Given the description of an element on the screen output the (x, y) to click on. 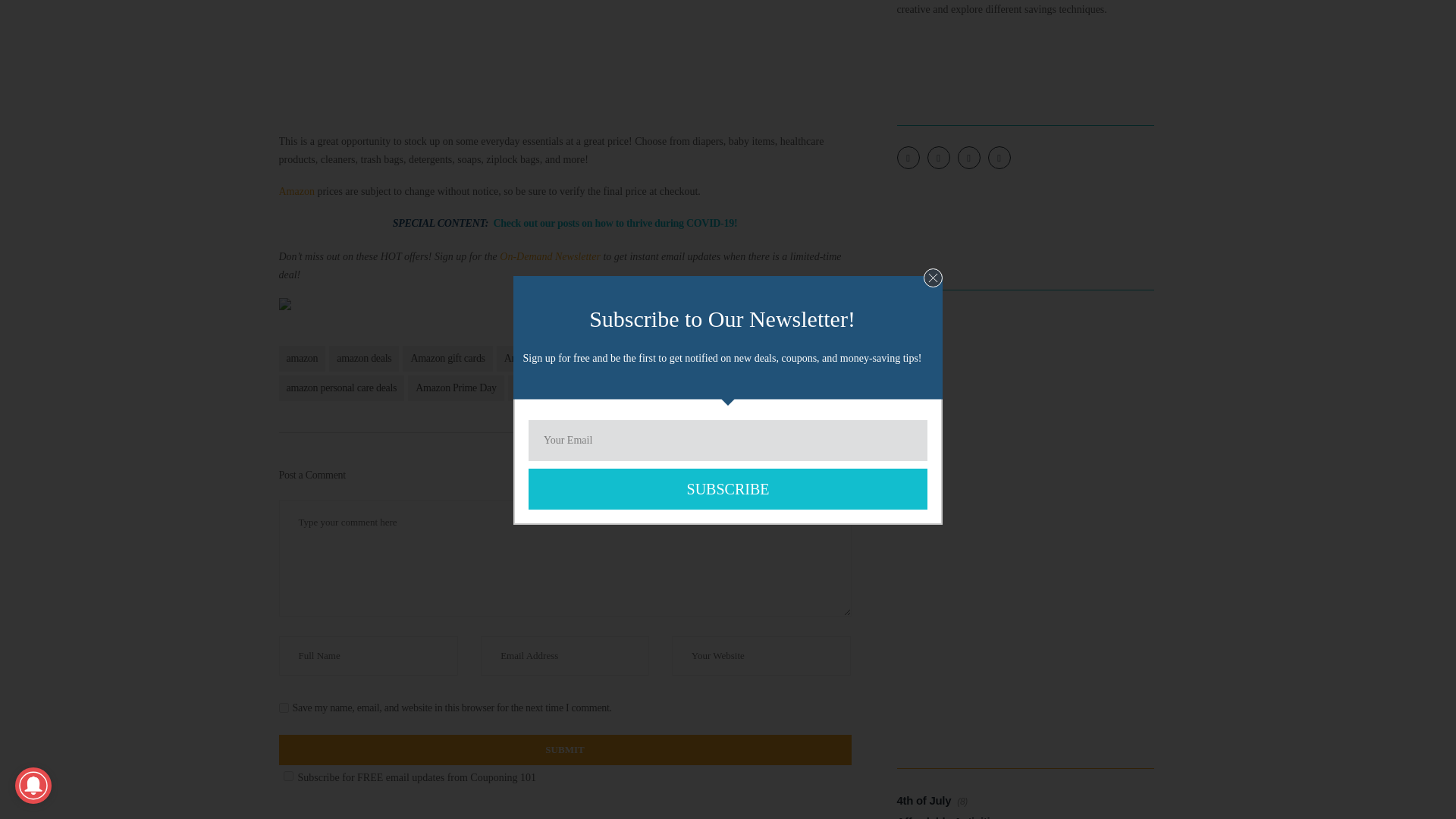
Advertisement (565, 54)
